Given the description of an element on the screen output the (x, y) to click on. 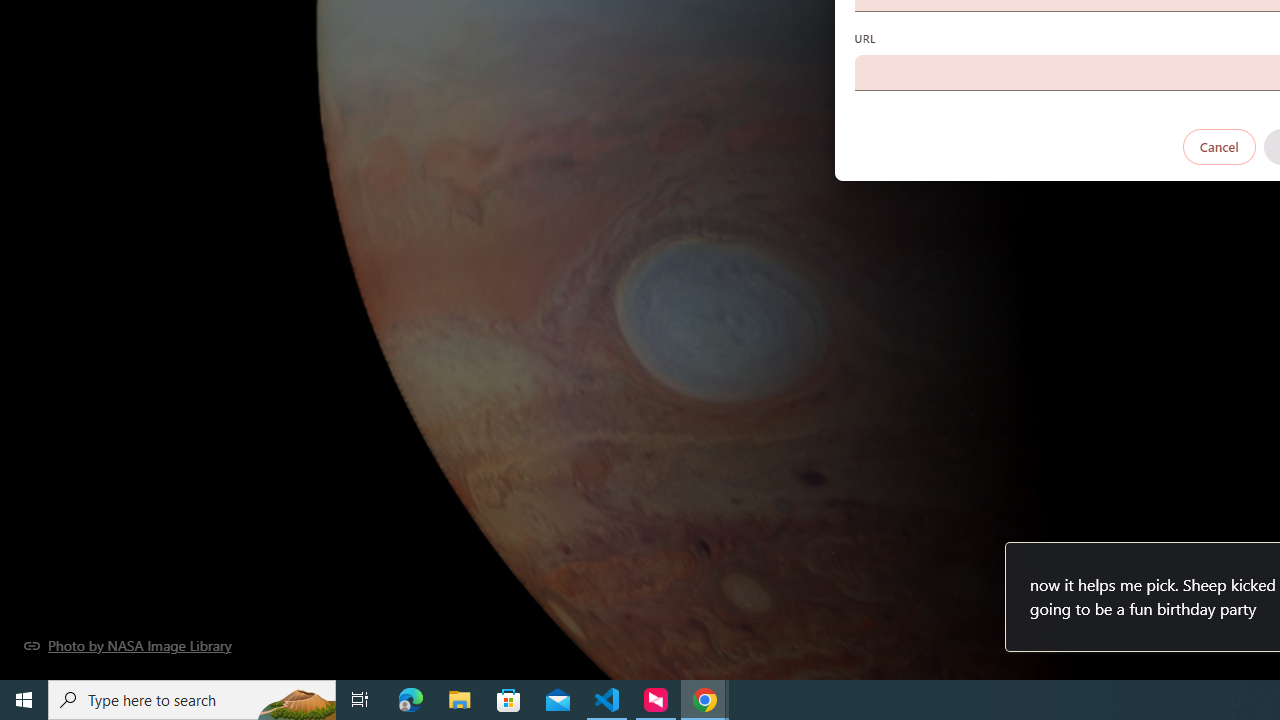
Cancel (1218, 146)
